Given the description of an element on the screen output the (x, y) to click on. 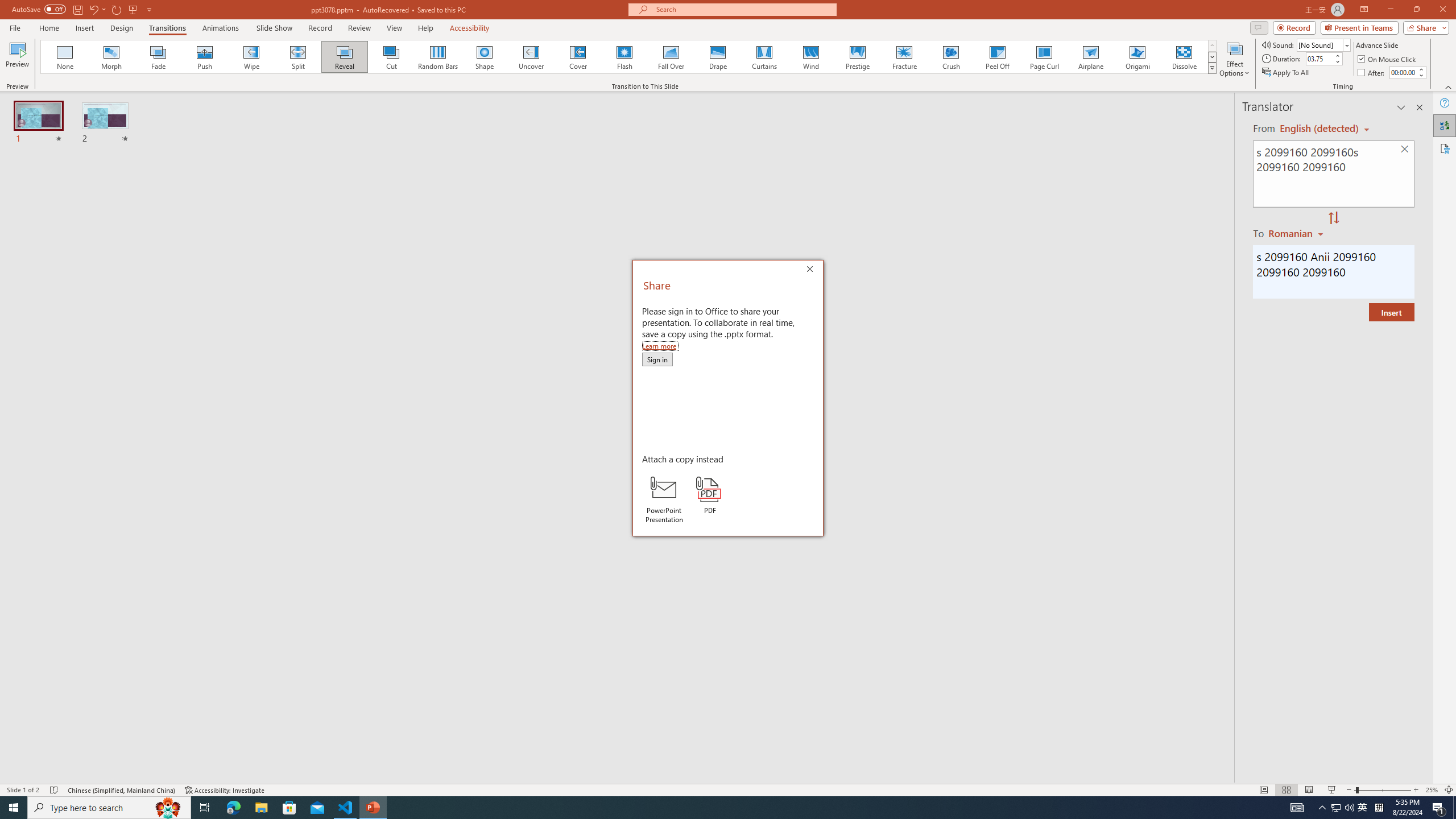
Curtains (764, 56)
Fracture (903, 56)
Push (205, 56)
On Mouse Click (1387, 58)
